Given the description of an element on the screen output the (x, y) to click on. 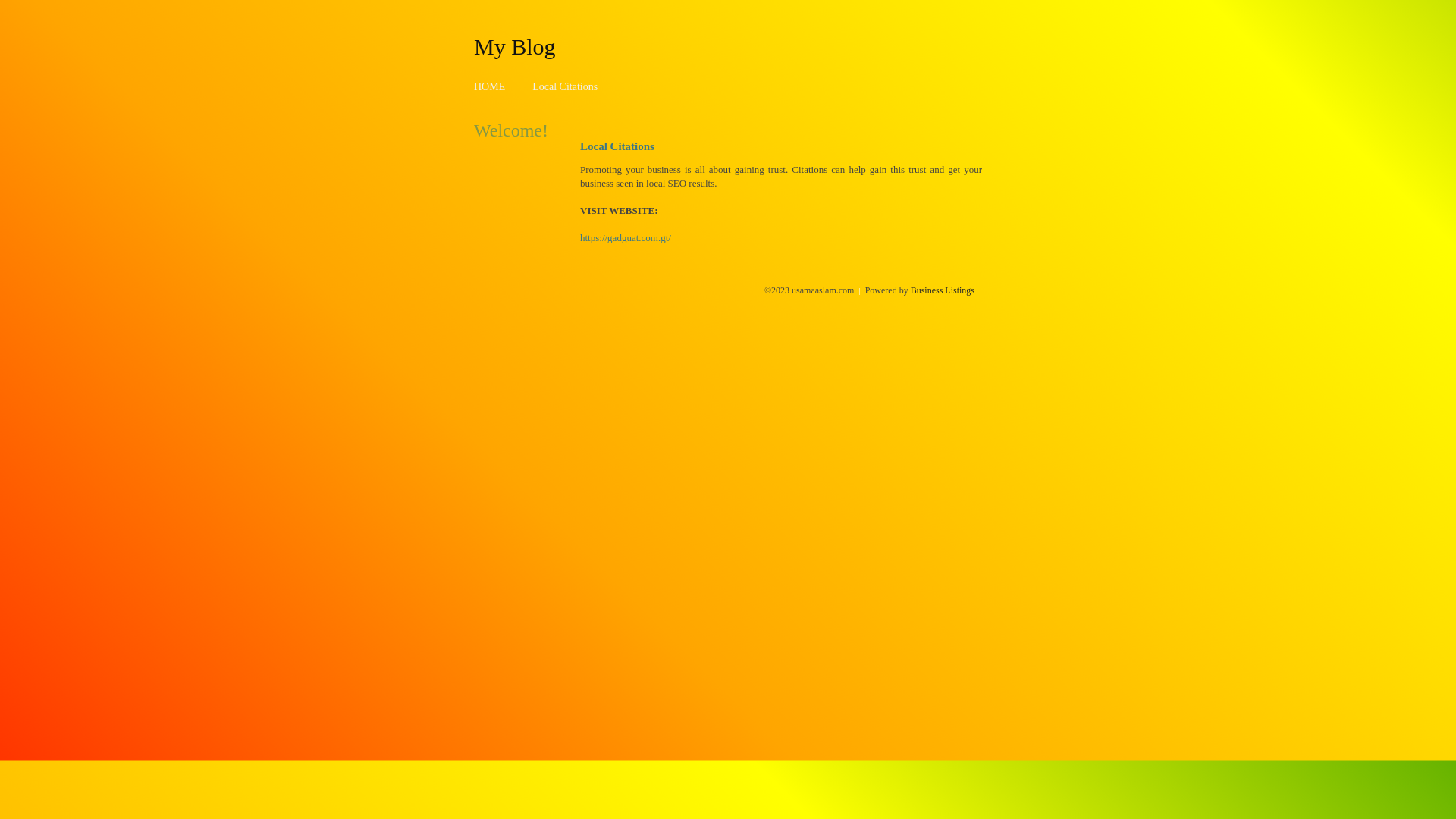
Local Citations Element type: text (564, 86)
My Blog Element type: text (514, 46)
HOME Element type: text (489, 86)
Business Listings Element type: text (942, 290)
https://gadguat.com.gt/ Element type: text (625, 237)
